Given the description of an element on the screen output the (x, y) to click on. 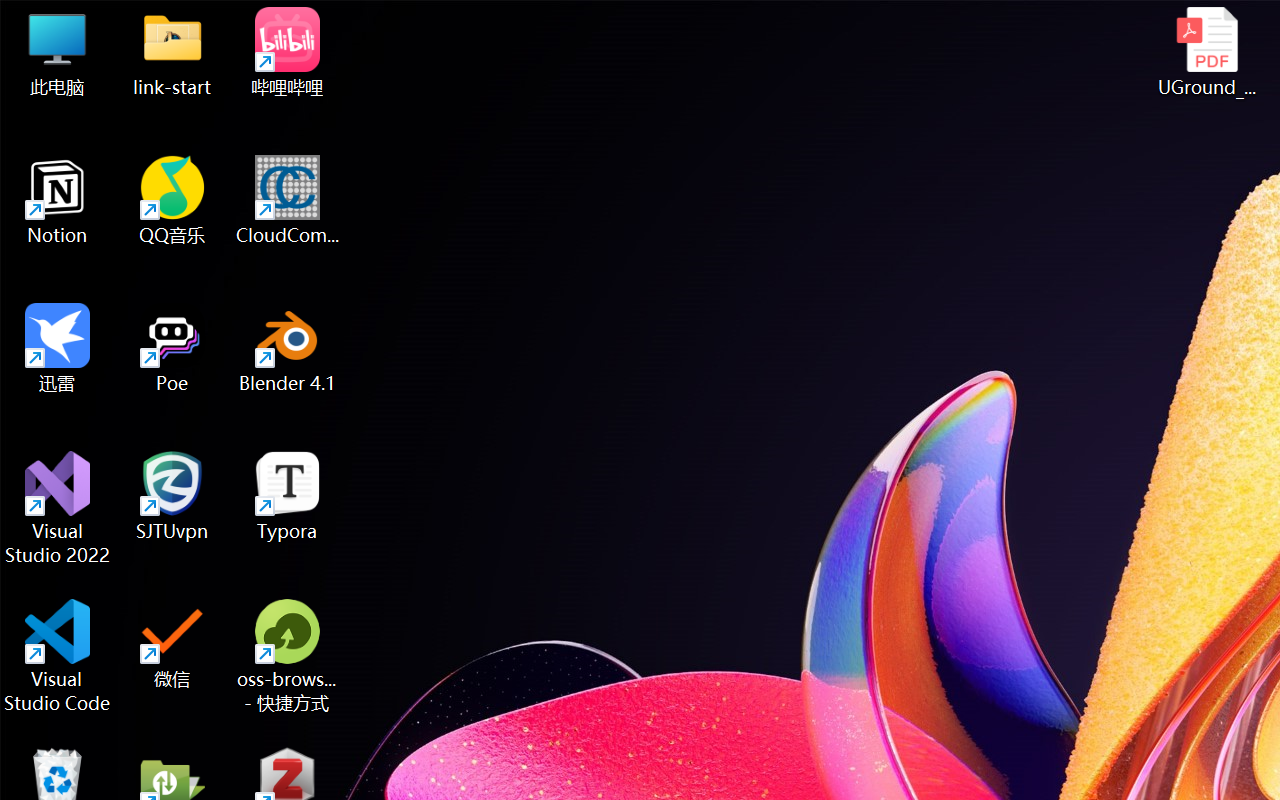
Visual Studio 2022 (57, 508)
Typora (287, 496)
Blender 4.1 (287, 348)
UGround_paper.pdf (1206, 52)
Poe (172, 348)
Visual Studio Code (57, 656)
SJTUvpn (172, 496)
CloudCompare (287, 200)
